Given the description of an element on the screen output the (x, y) to click on. 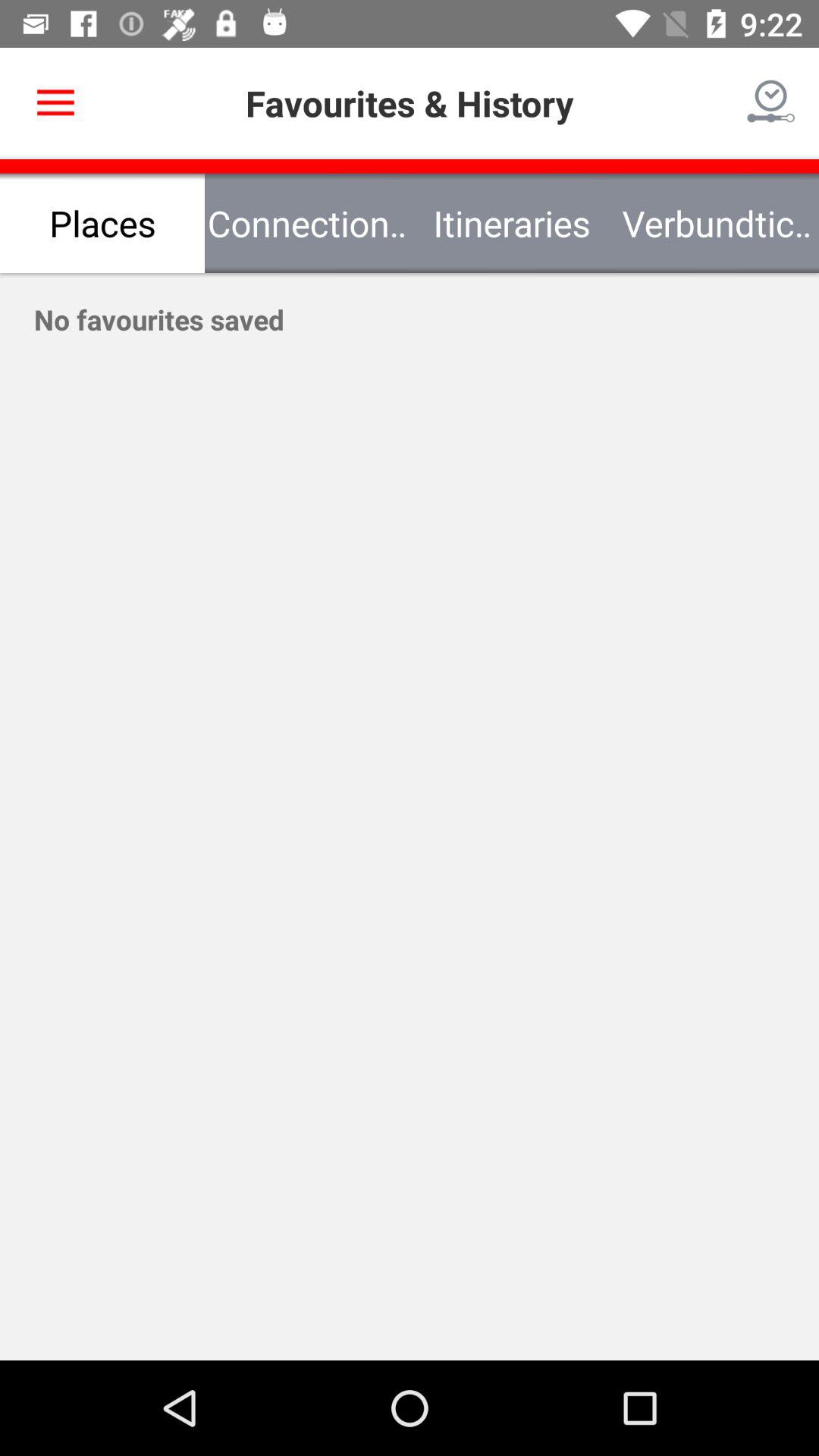
turn off icon next to connection requests icon (55, 103)
